Given the description of an element on the screen output the (x, y) to click on. 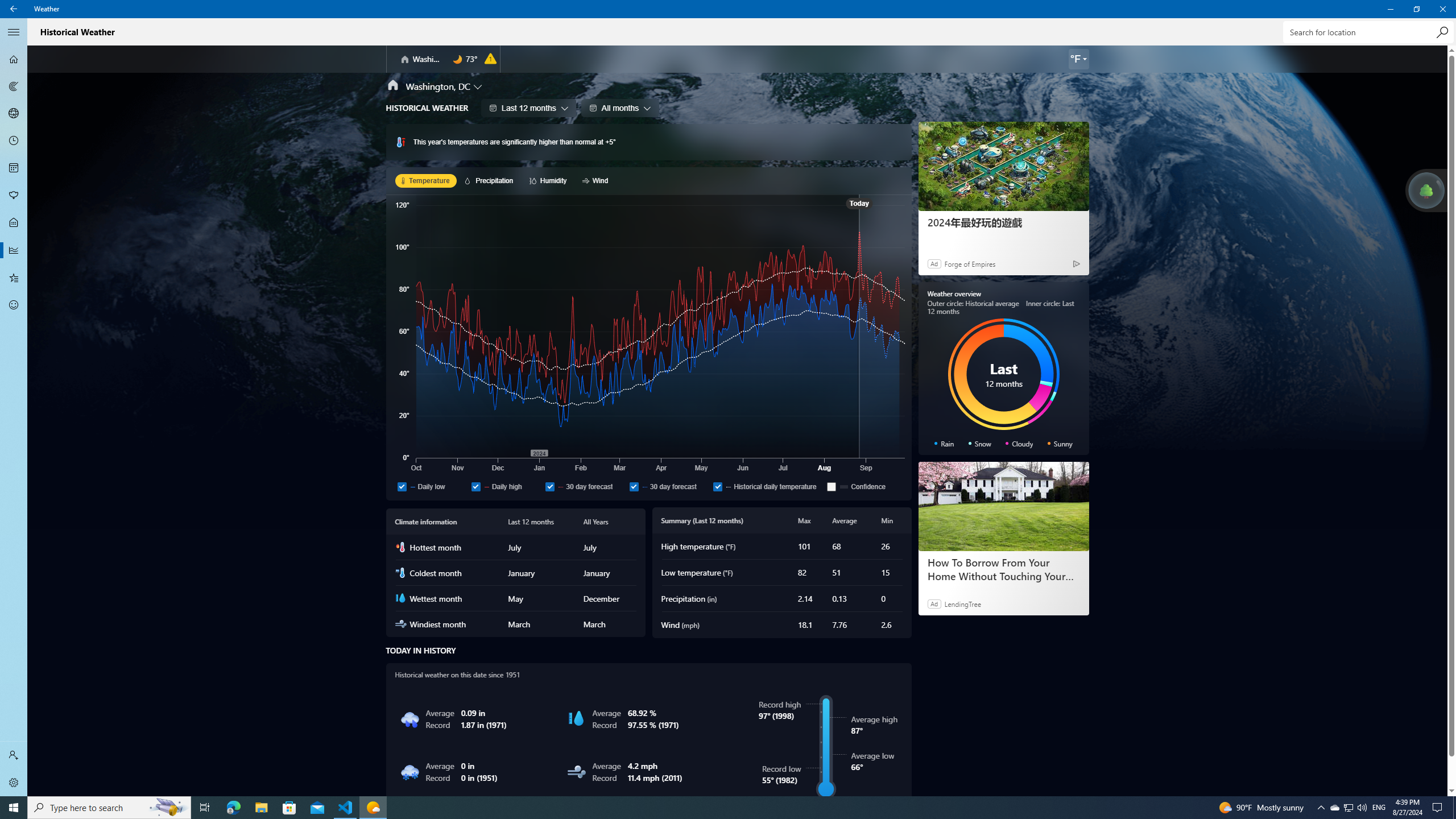
Monthly Forecast - Not Selected (13, 167)
Maps - Not Selected (13, 85)
Historical Weather - Not Selected (13, 249)
Favorites - Not Selected (13, 277)
Tray Input Indicator - English (United States) (1378, 807)
Send Feedback - Not Selected (13, 304)
Monthly Forecast - Not Selected (13, 167)
Historical Weather - Not Selected (13, 249)
Restore Weather (1416, 9)
Hourly Forecast - Not Selected (13, 140)
Close Weather (1442, 9)
